Given the description of an element on the screen output the (x, y) to click on. 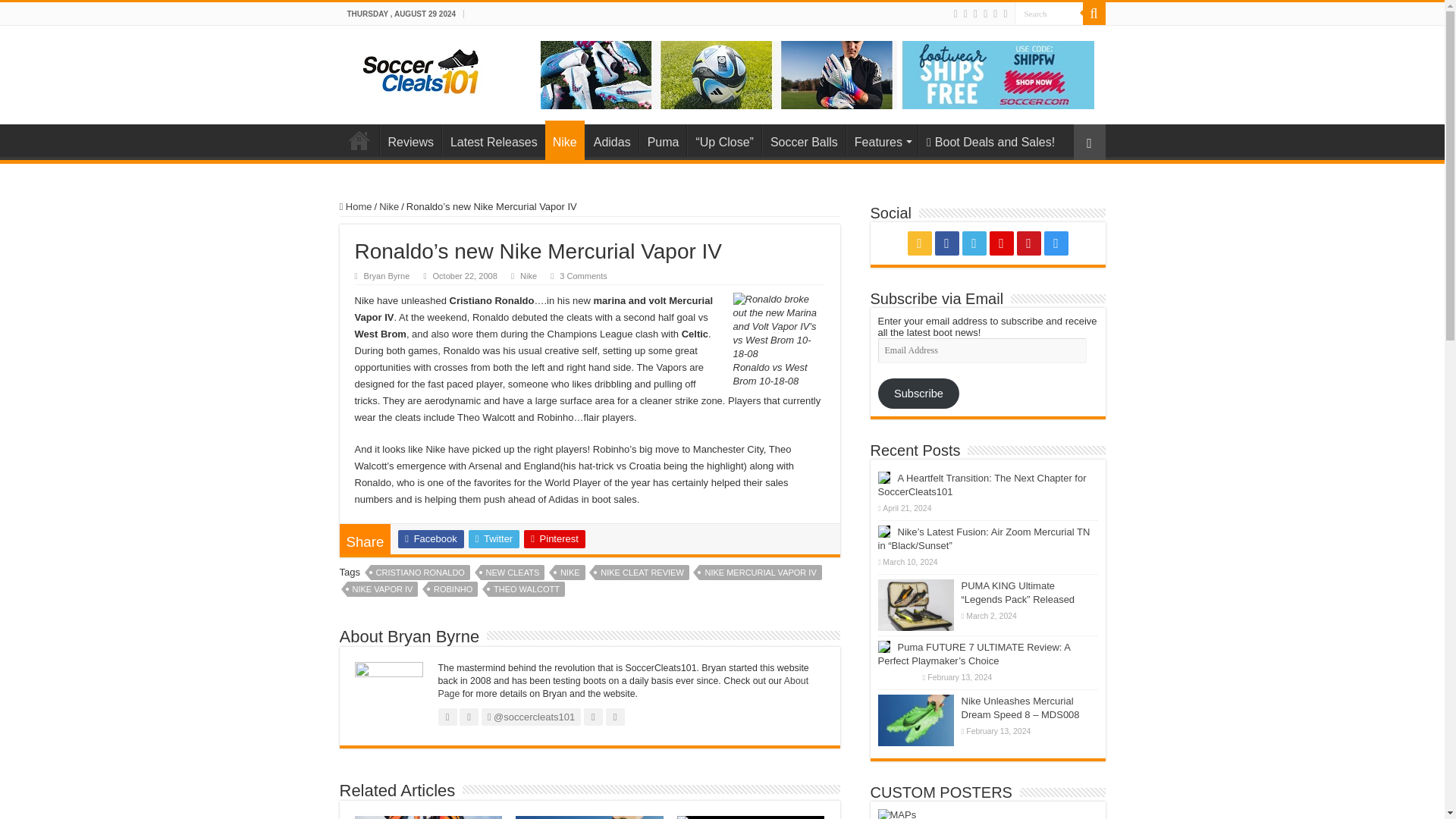
Search (1048, 13)
Nike (564, 139)
Adidas (612, 140)
Reviews (409, 140)
Home (358, 140)
Latest Releases (493, 140)
Search (1094, 13)
Search (1048, 13)
Puma (663, 140)
Search (1048, 13)
